Given the description of an element on the screen output the (x, y) to click on. 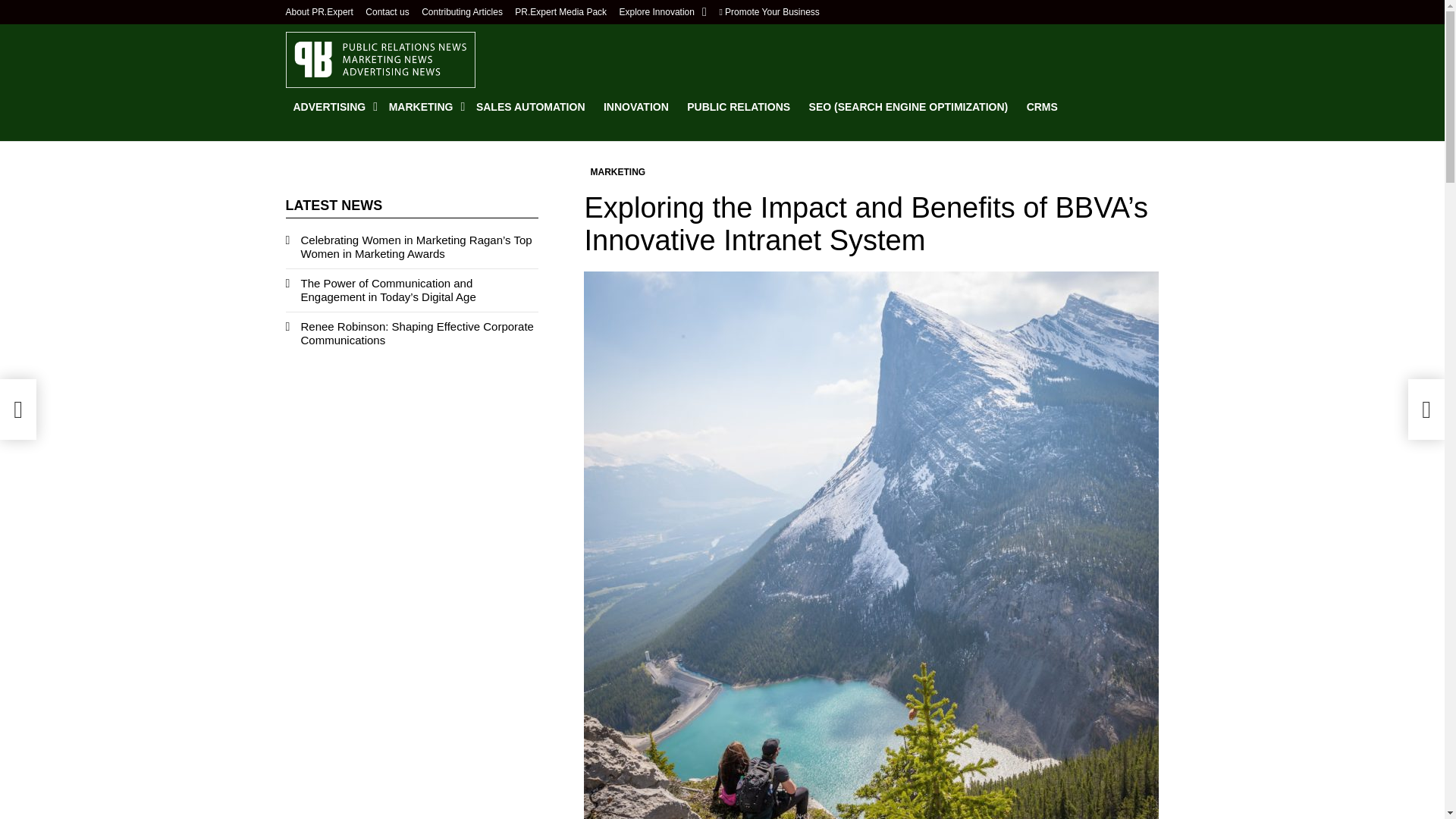
About PR.Expert (318, 12)
Contributing Articles (462, 12)
Explore Innovation (663, 12)
PR.Expert Media Pack (561, 12)
SALES AUTOMATION (530, 106)
MARKETING (423, 106)
ADVERTISING (331, 106)
PUBLIC RELATIONS (738, 106)
CRMS (1042, 106)
Contact us (387, 12)
